Given the description of an element on the screen output the (x, y) to click on. 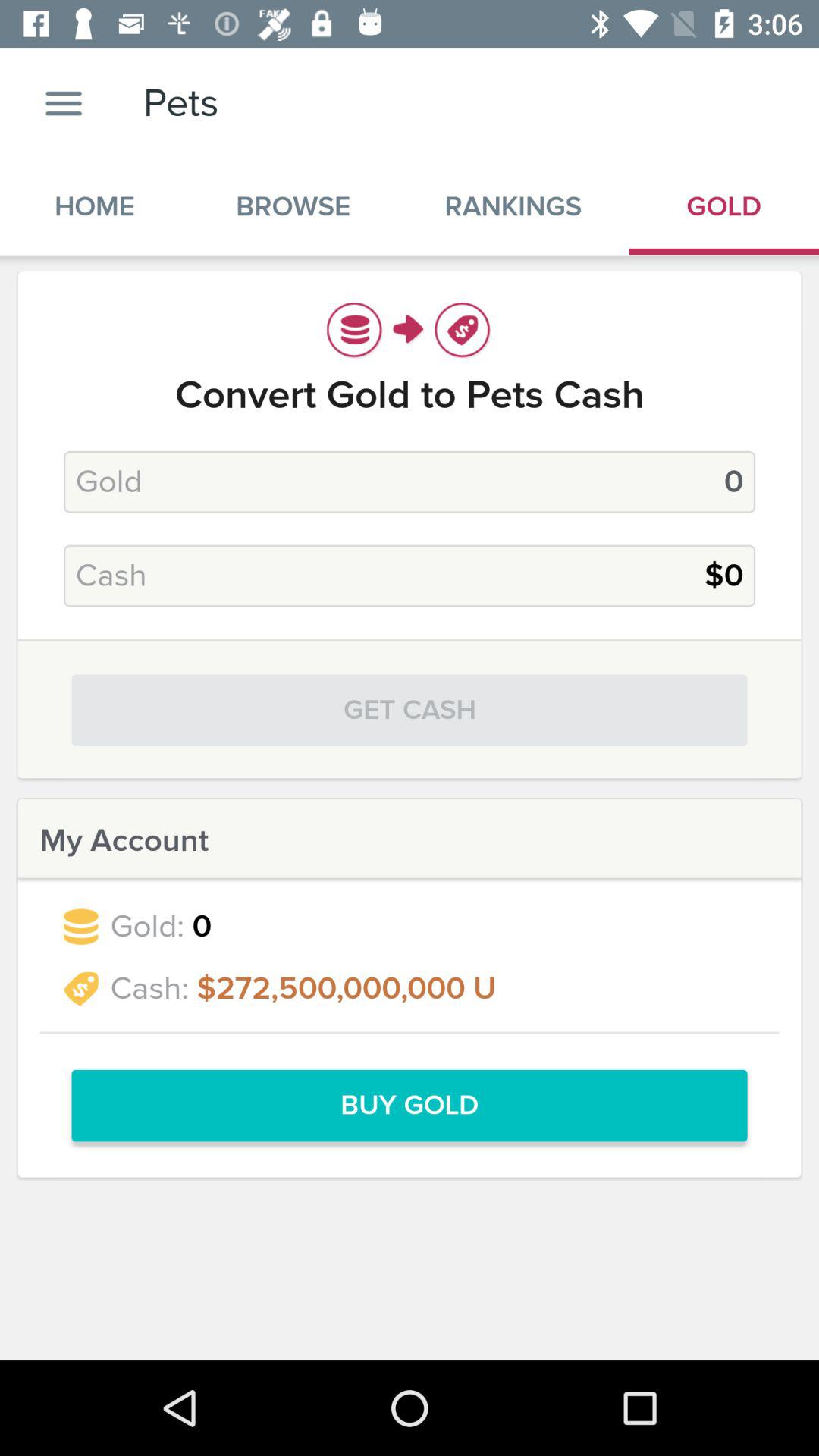
jump to buy gold item (409, 1105)
